Given the description of an element on the screen output the (x, y) to click on. 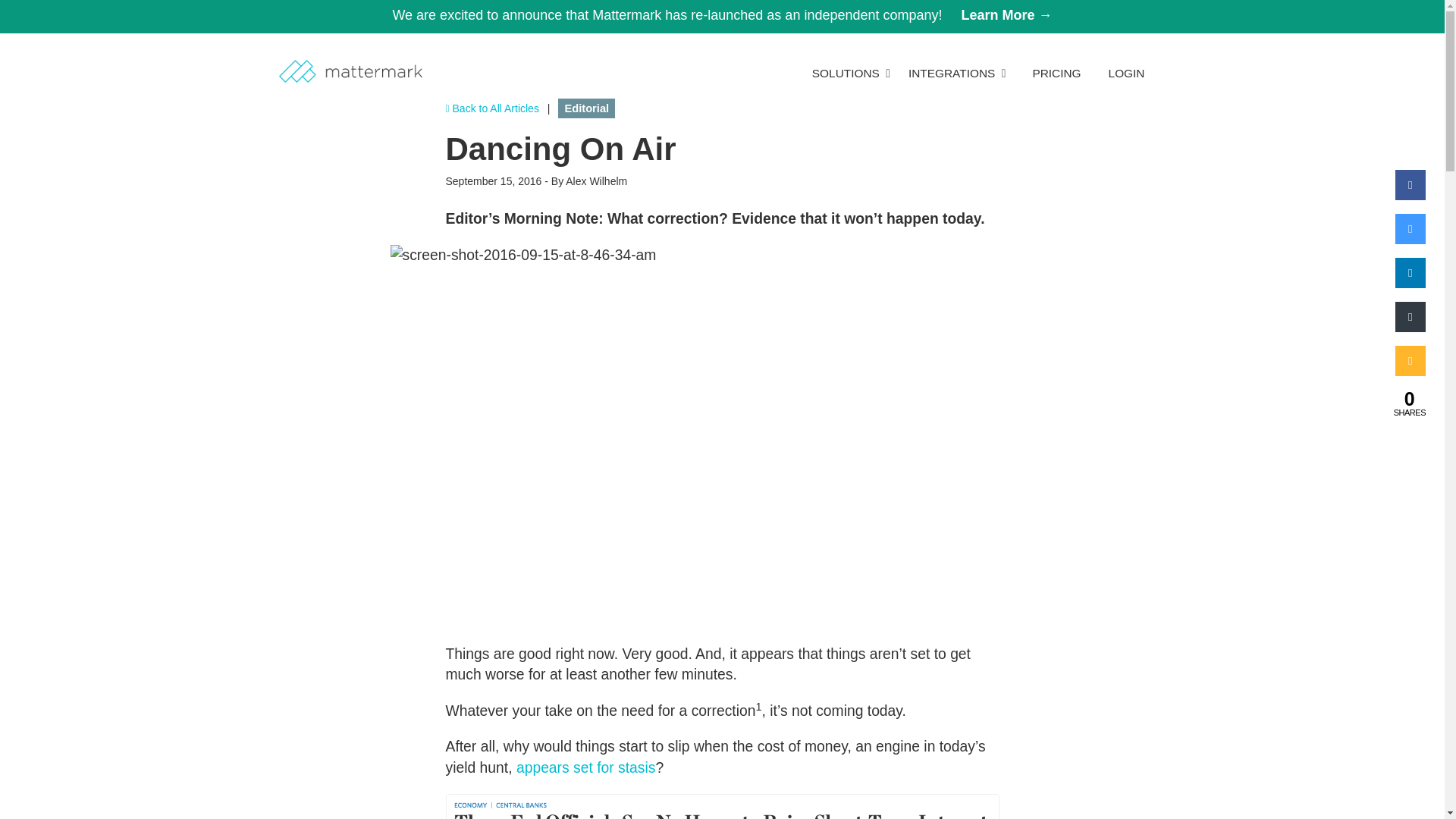
Back to All Articles (491, 108)
Editorial (585, 107)
PRICING (1056, 72)
SOLUTIONS   (851, 72)
appears set for stasis (586, 767)
LOGIN (1126, 72)
INTEGRATIONS   (956, 72)
Mattermark Blog (491, 108)
